Given the description of an element on the screen output the (x, y) to click on. 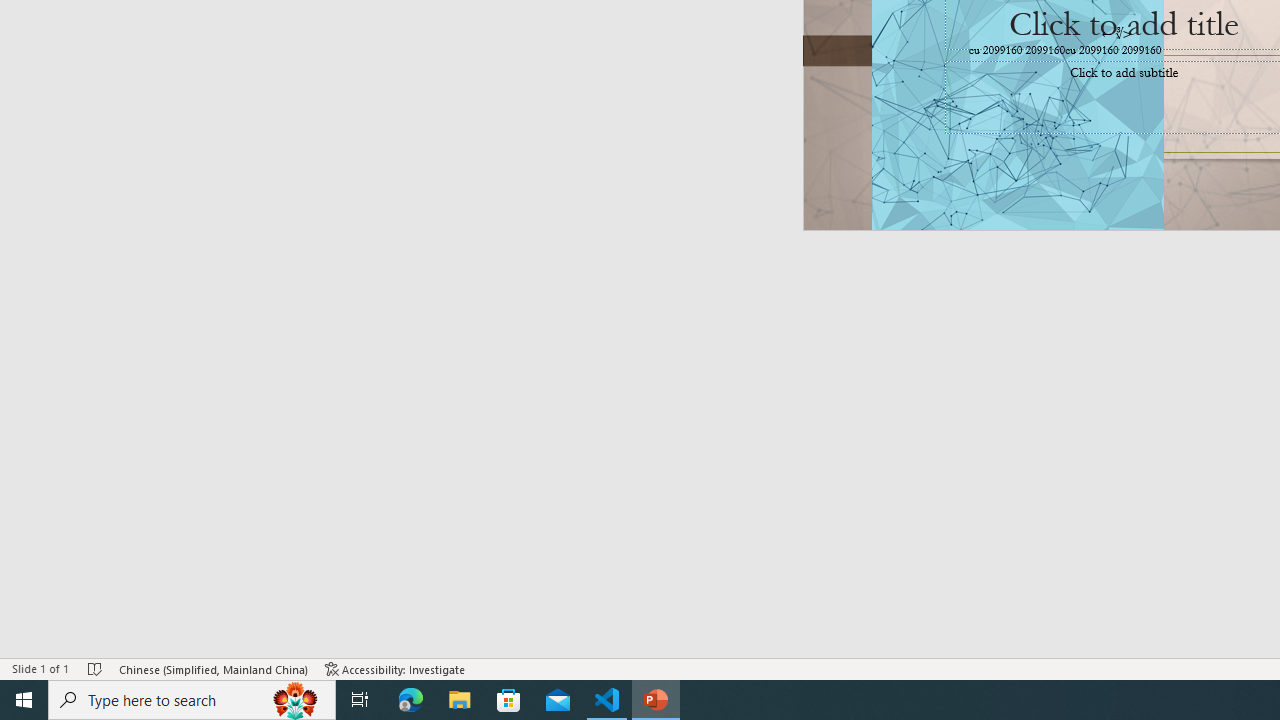
TextBox 7 (1117, 33)
